Given the description of an element on the screen output the (x, y) to click on. 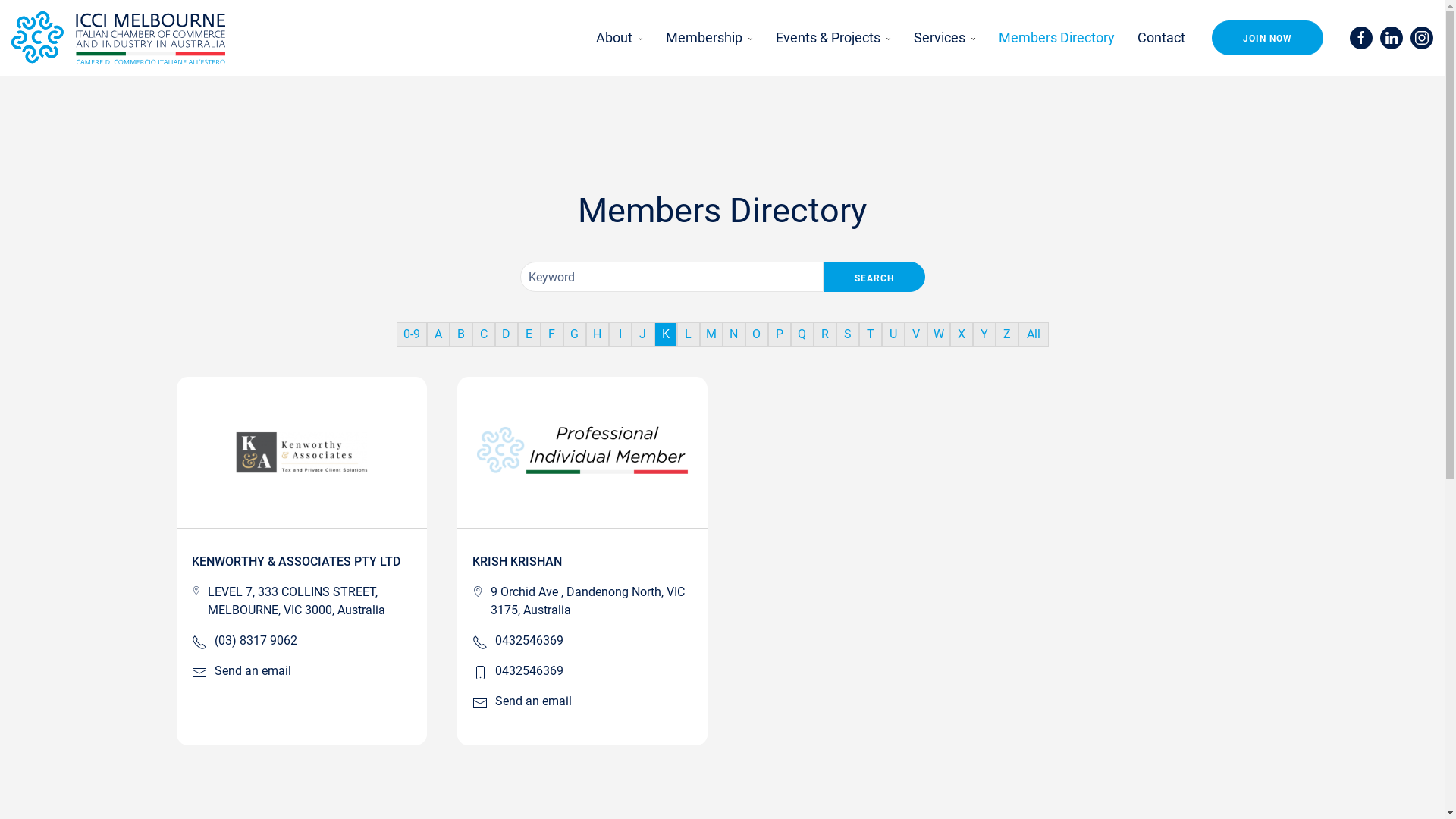
W Element type: text (937, 334)
H Element type: text (596, 334)
Services Element type: text (944, 37)
P Element type: text (778, 334)
0-9 Element type: text (410, 334)
G Element type: text (573, 334)
S Element type: text (846, 334)
Events & Projects Element type: text (833, 37)
Z Element type: text (1005, 334)
D Element type: text (505, 334)
Contact Element type: text (1155, 37)
R Element type: text (823, 334)
N Element type: text (732, 334)
K Element type: text (664, 334)
A Element type: text (437, 334)
C Element type: text (482, 334)
J Element type: text (641, 334)
U Element type: text (892, 334)
T Element type: text (869, 334)
I Element type: text (619, 334)
B Element type: text (459, 334)
JOIN NOW Element type: text (1267, 37)
V Element type: text (914, 334)
F Element type: text (550, 334)
Q Element type: text (801, 334)
Y Element type: text (983, 334)
Send an email Element type: text (251, 671)
All Element type: text (1032, 334)
SEARCH Element type: text (874, 276)
Members Directory Element type: text (1056, 37)
O Element type: text (755, 334)
M Element type: text (710, 334)
Send an email Element type: text (532, 701)
X Element type: text (960, 334)
E Element type: text (528, 334)
L Element type: text (687, 334)
